Given the description of an element on the screen output the (x, y) to click on. 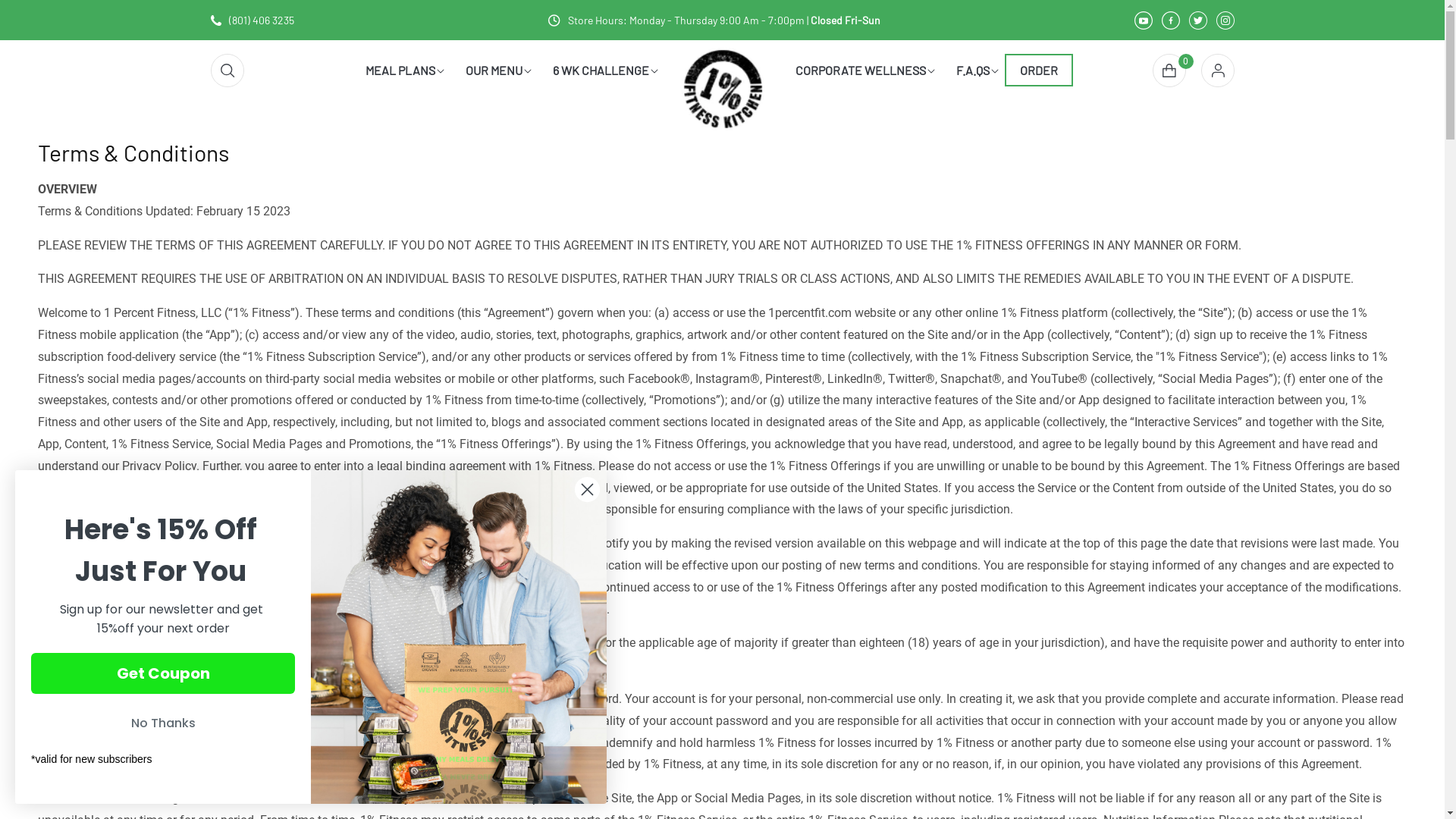
ORDER Element type: text (1038, 69)
(801) 406 3235 Element type: text (252, 20)
Log in Element type: text (1217, 69)
Facebook Element type: text (1170, 19)
Instagram Element type: text (1225, 19)
Twitter Element type: text (1198, 19)
Cart
0
0 items Element type: text (1169, 69)
YouTube Element type: text (1143, 19)
No Thanks Element type: text (162, 723)
Get Coupon Element type: text (162, 672)
Submit Element type: text (21, 7)
Close dialog 1 Element type: text (587, 489)
